Given the description of an element on the screen output the (x, y) to click on. 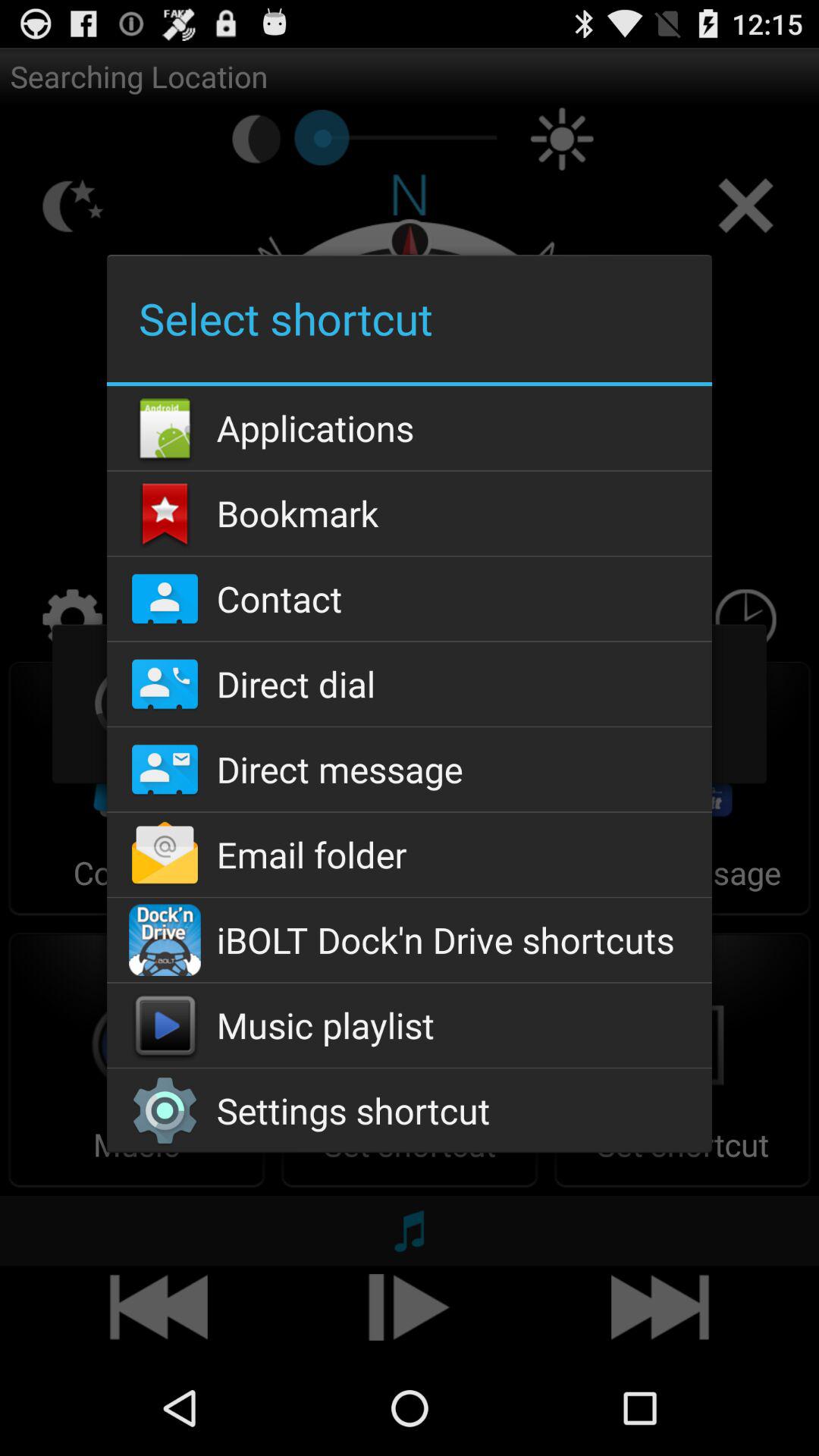
click applications icon (409, 428)
